Given the description of an element on the screen output the (x, y) to click on. 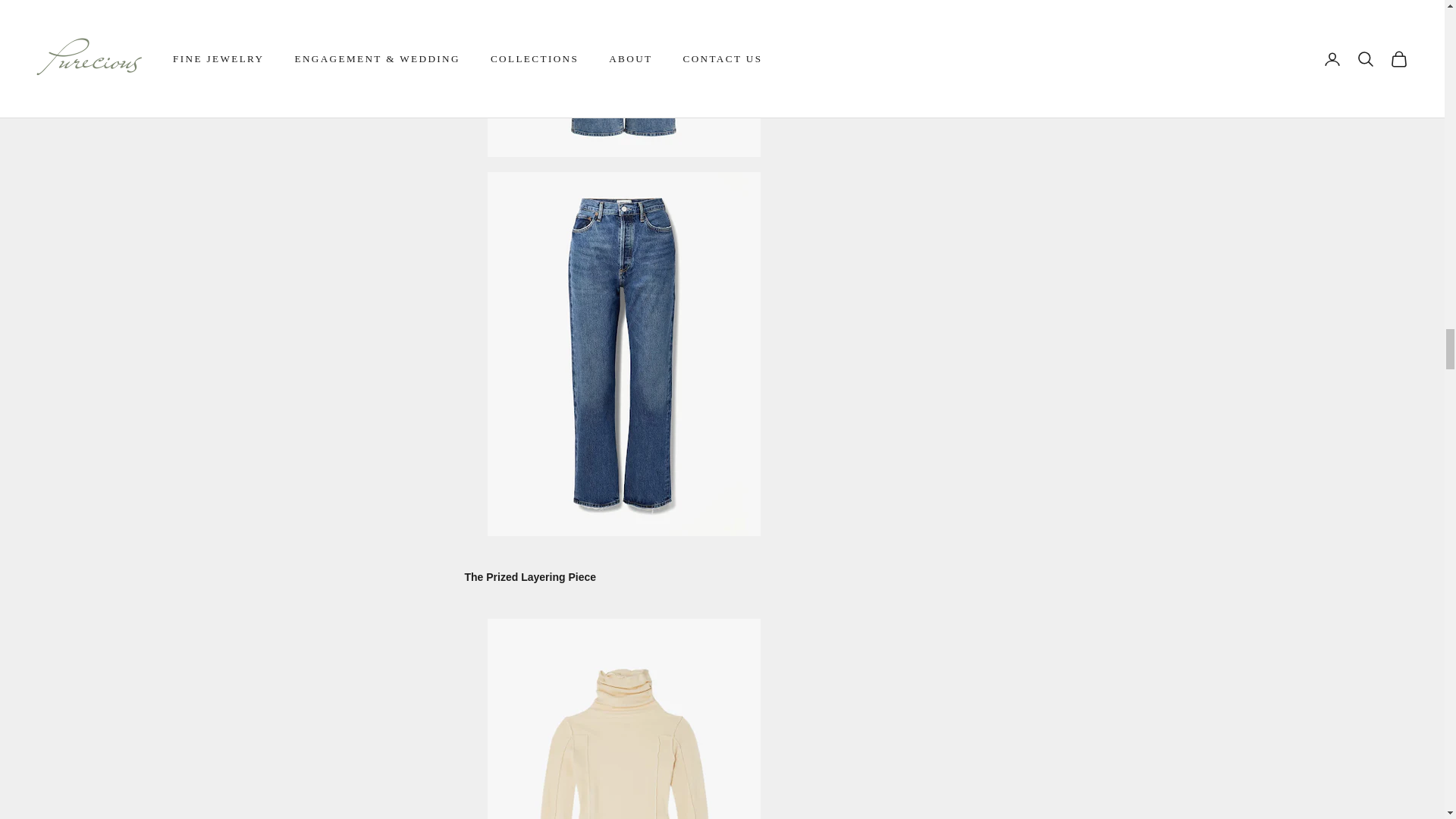
Organic Jeans (623, 353)
Cotton Turtleneck (623, 799)
